Given the description of an element on the screen output the (x, y) to click on. 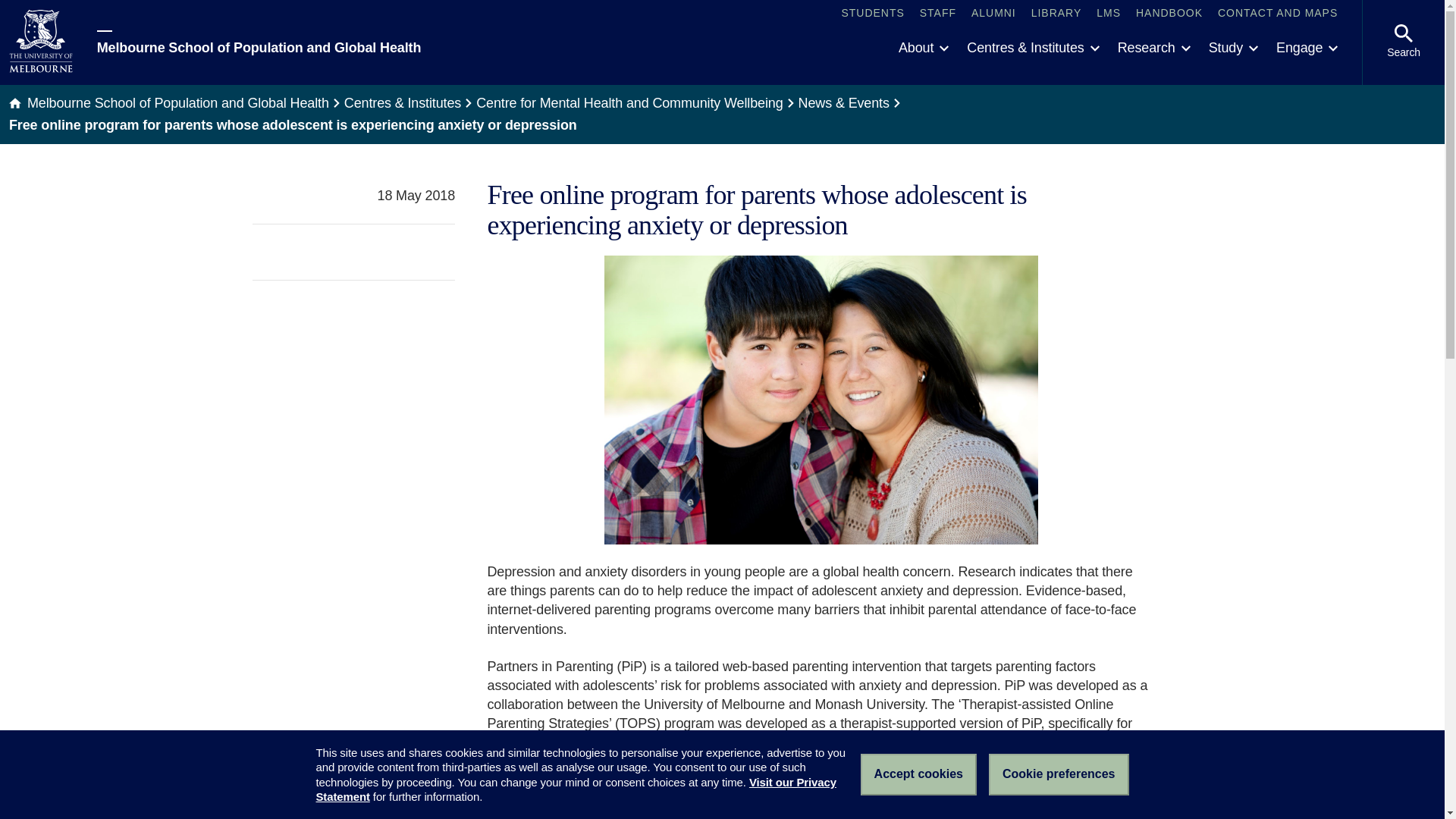
LMS (1108, 13)
CONTACT AND MAPS (1277, 13)
Research (1153, 48)
STUDENTS (872, 13)
Tweet This (389, 251)
LIBRARY (1055, 13)
Share on LinkedIn (445, 251)
About (923, 48)
STAFF (938, 13)
Share on Facebook (417, 251)
